Given the description of an element on the screen output the (x, y) to click on. 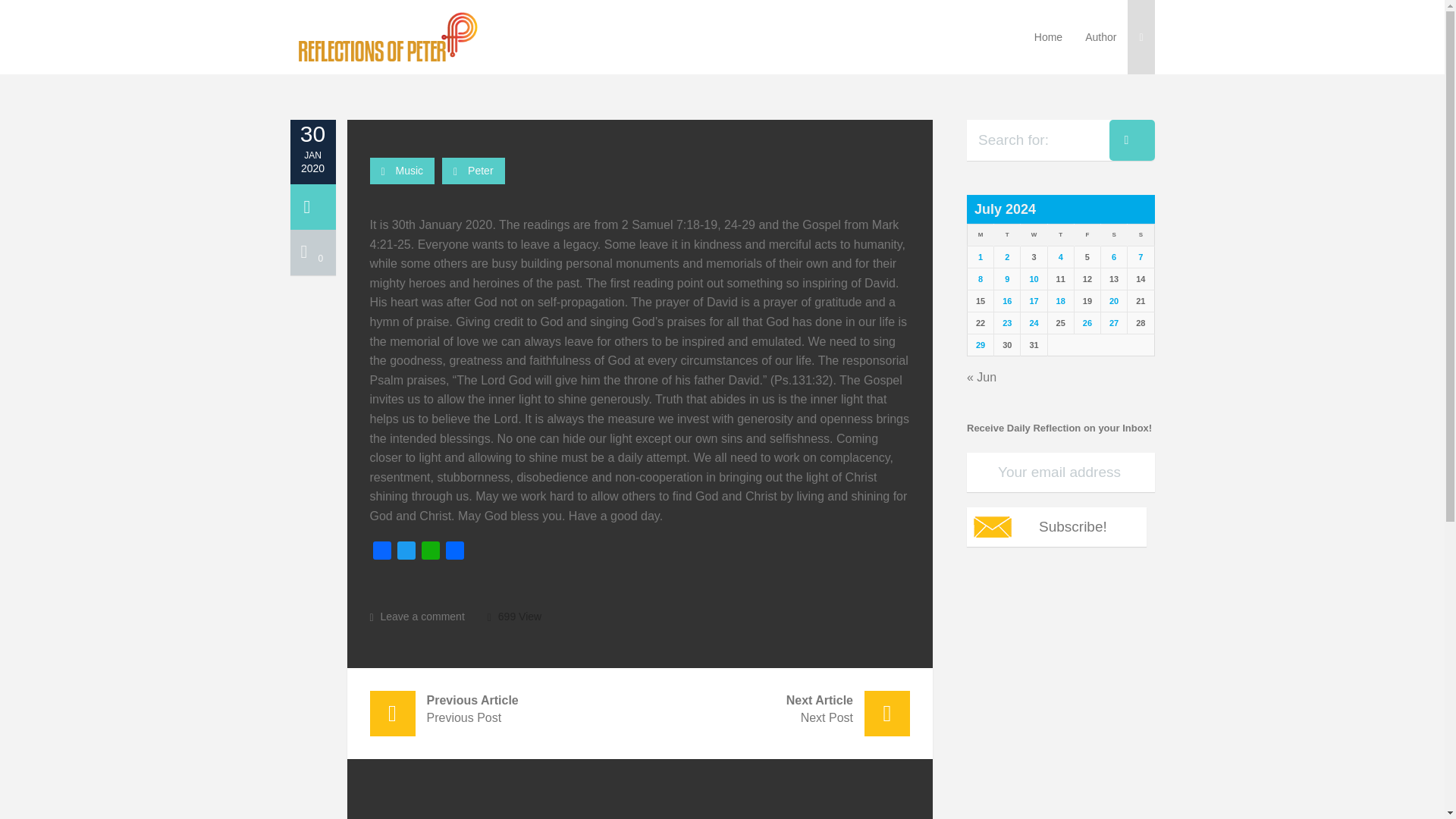
Music (409, 170)
29 (980, 344)
Sunday (1140, 235)
24 (1033, 322)
20 (1113, 300)
Monday (981, 235)
Leave a comment (416, 615)
Thursday (1060, 235)
27 (1113, 322)
16 (1007, 300)
WhatsApp (430, 553)
Facebook (381, 553)
Subscribe!        (1056, 526)
Twitter (406, 553)
18 (1061, 300)
